Given the description of an element on the screen output the (x, y) to click on. 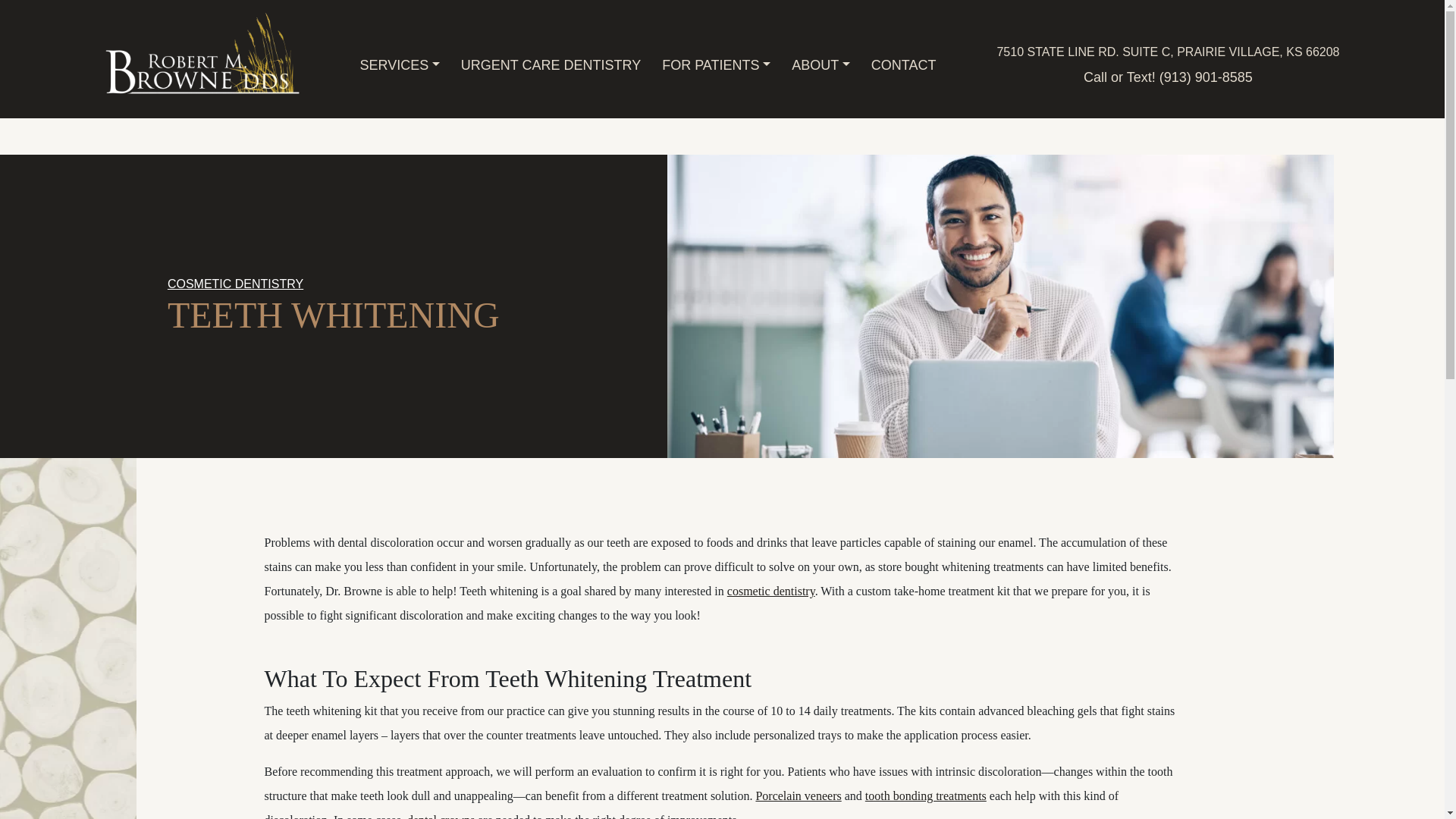
Urgent Care Dentistry (550, 64)
cosmetic dentistry (770, 590)
ABOUT (821, 64)
CONTACT (903, 64)
Services (399, 64)
About (821, 64)
Porcelain veneers (798, 795)
URGENT CARE DENTISTRY (550, 64)
dental crowns (440, 816)
tooth bonding treatments (925, 795)
